Given the description of an element on the screen output the (x, y) to click on. 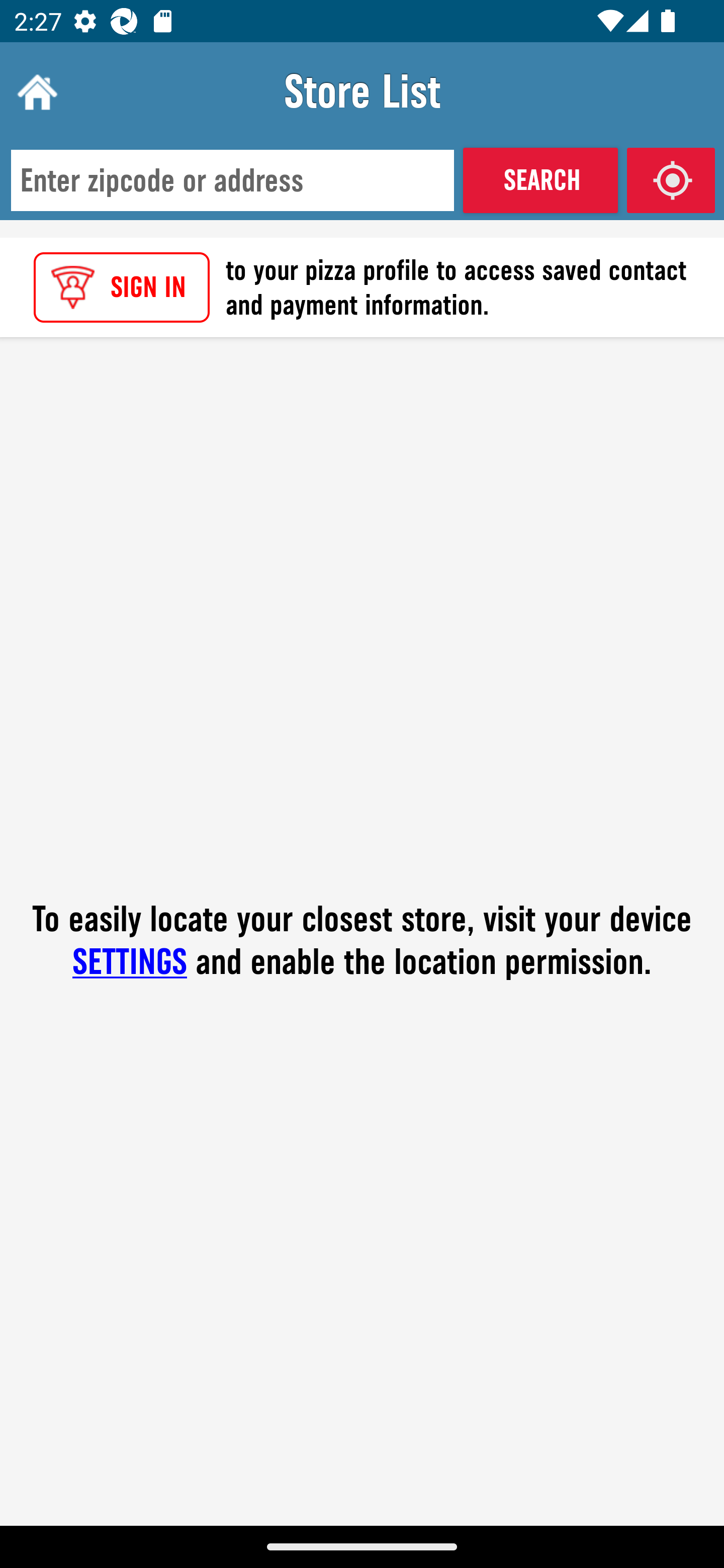
Home (35, 91)
SEARCH (540, 180)
Use Current Location (670, 180)
Enter zipcode or address (231, 180)
SIGN IN (121, 287)
